Given the description of an element on the screen output the (x, y) to click on. 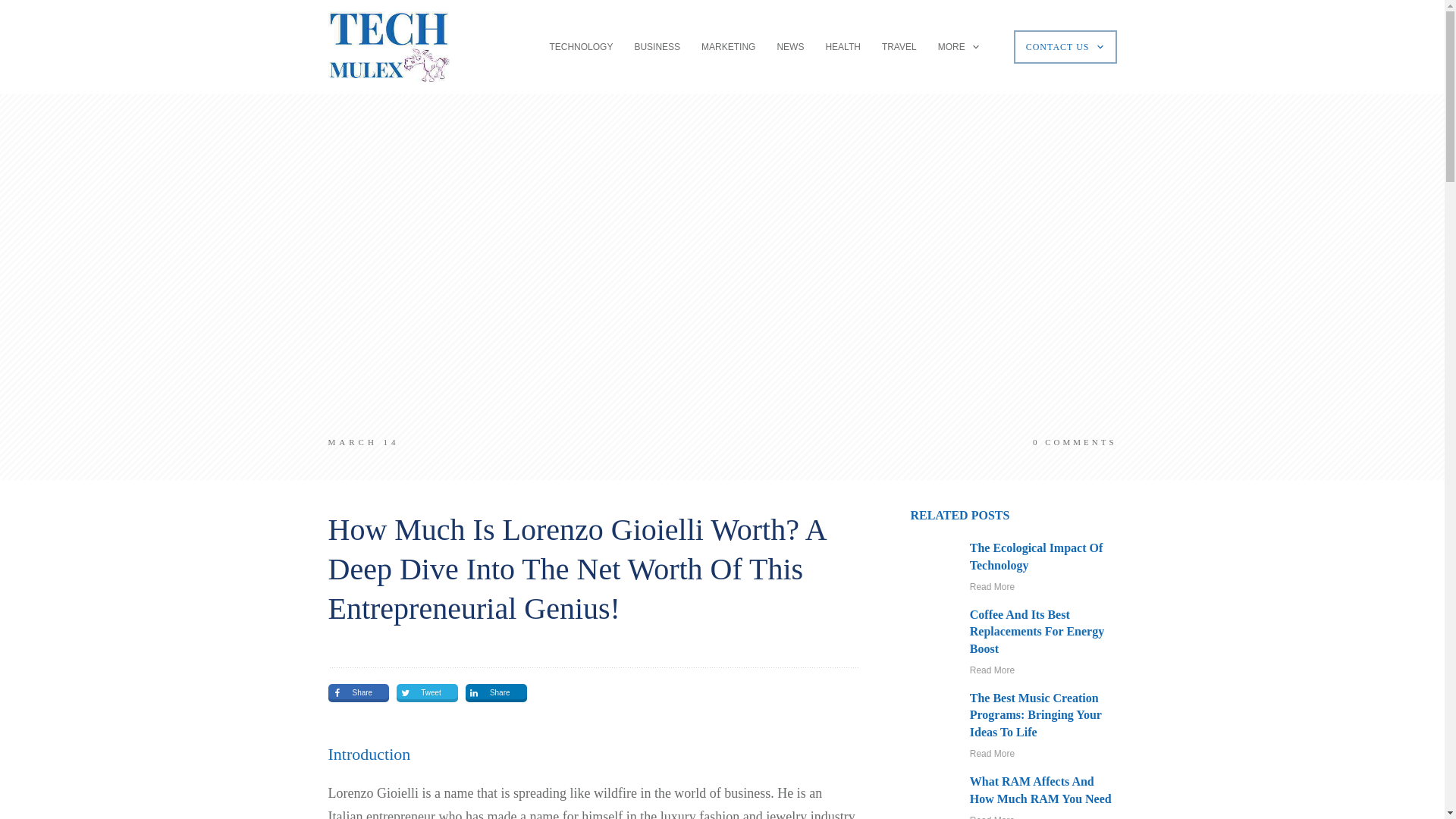
NEWS (789, 46)
TRAVEL (899, 46)
Read More (991, 586)
Read More (991, 670)
Coffee and Its Best Replacements for Energy Boost (1036, 631)
Coffee And Its Best Replacements For Energy Boost (1036, 631)
Share (496, 692)
TECHNOLOGY (580, 46)
What RAM Affects and How Much RAM You Need (1040, 789)
The Ecological Impact Of Technology (1036, 555)
MARKETING (728, 46)
MORE (958, 46)
